Given the description of an element on the screen output the (x, y) to click on. 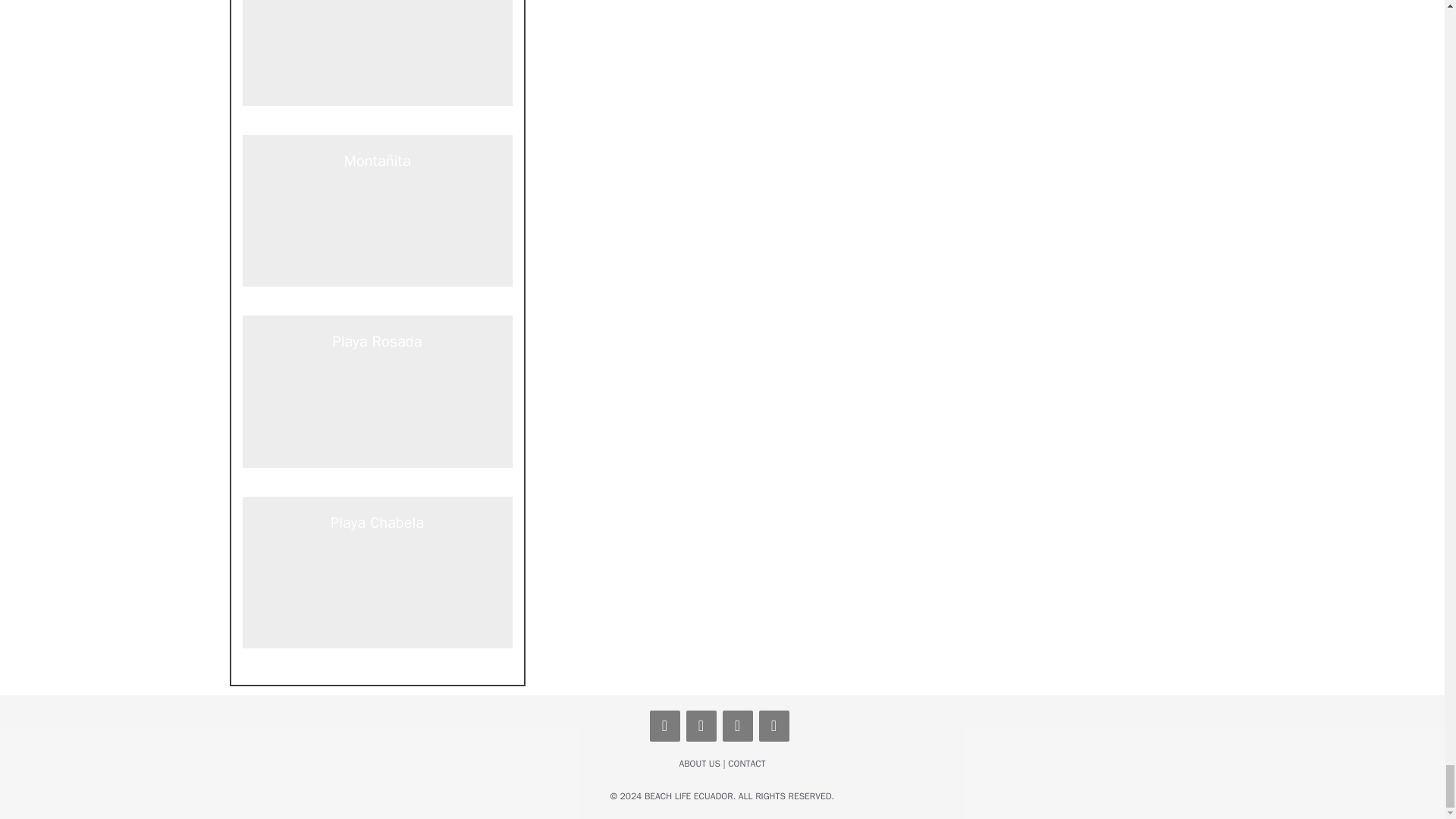
Instagram (700, 726)
Los Frailes (377, 123)
Pinterest (737, 726)
YouTube (773, 726)
Playa Rosada (377, 484)
Playa Chabela (377, 665)
Flickr (664, 726)
